Given the description of an element on the screen output the (x, y) to click on. 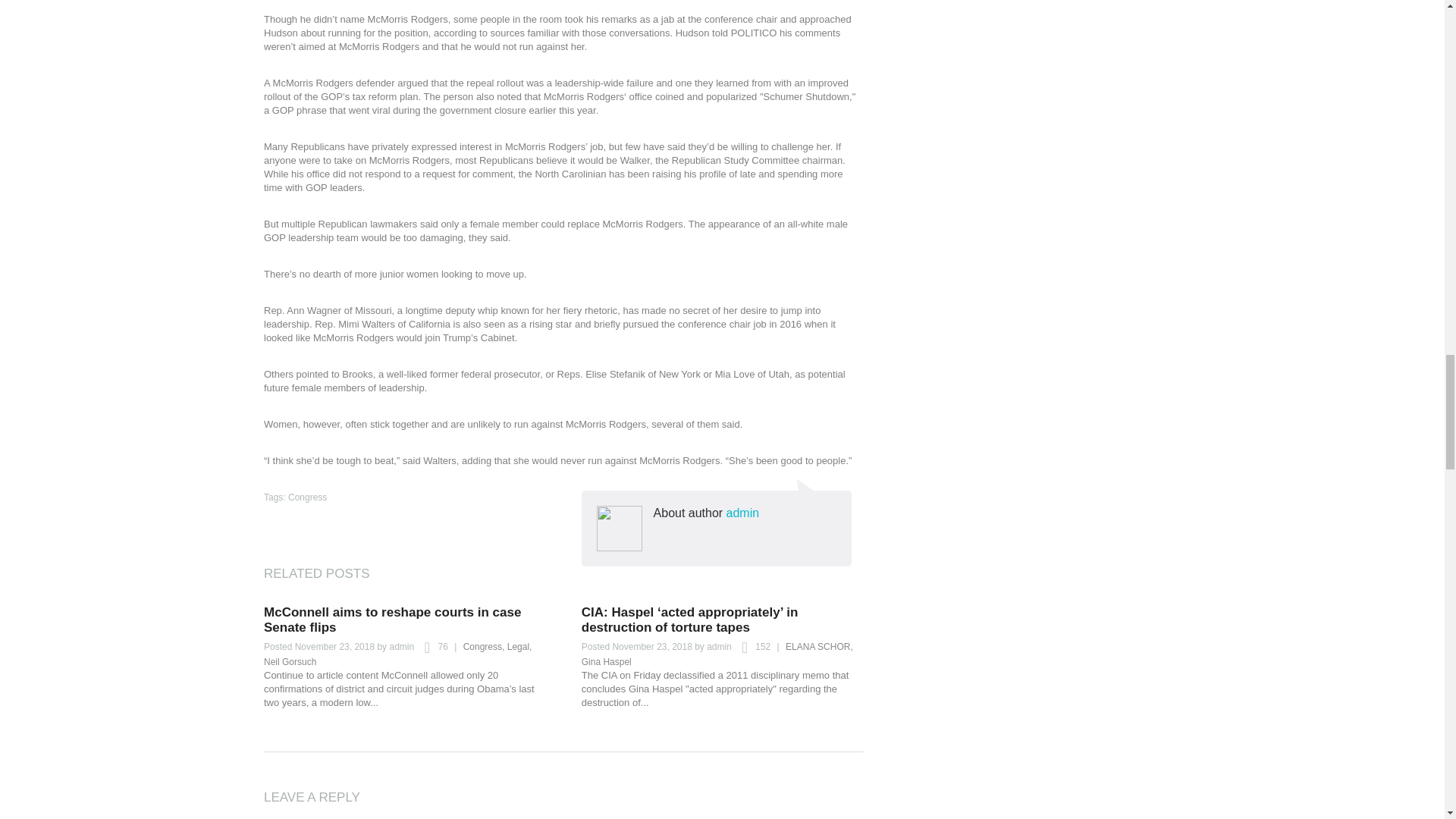
admin (400, 646)
admin (743, 512)
152 (751, 647)
November 23, 2018 (334, 646)
Gina Haspel (605, 662)
Views - 76 (431, 647)
Neil Gorsuch (289, 662)
McConnell aims to reshape courts in case Senate flips (392, 619)
Legal, (519, 646)
76 (431, 647)
admin (719, 646)
Congress, (484, 646)
November 23, 2018 (651, 646)
ELANA SCHOR, (819, 646)
Congress (307, 497)
